Given the description of an element on the screen output the (x, y) to click on. 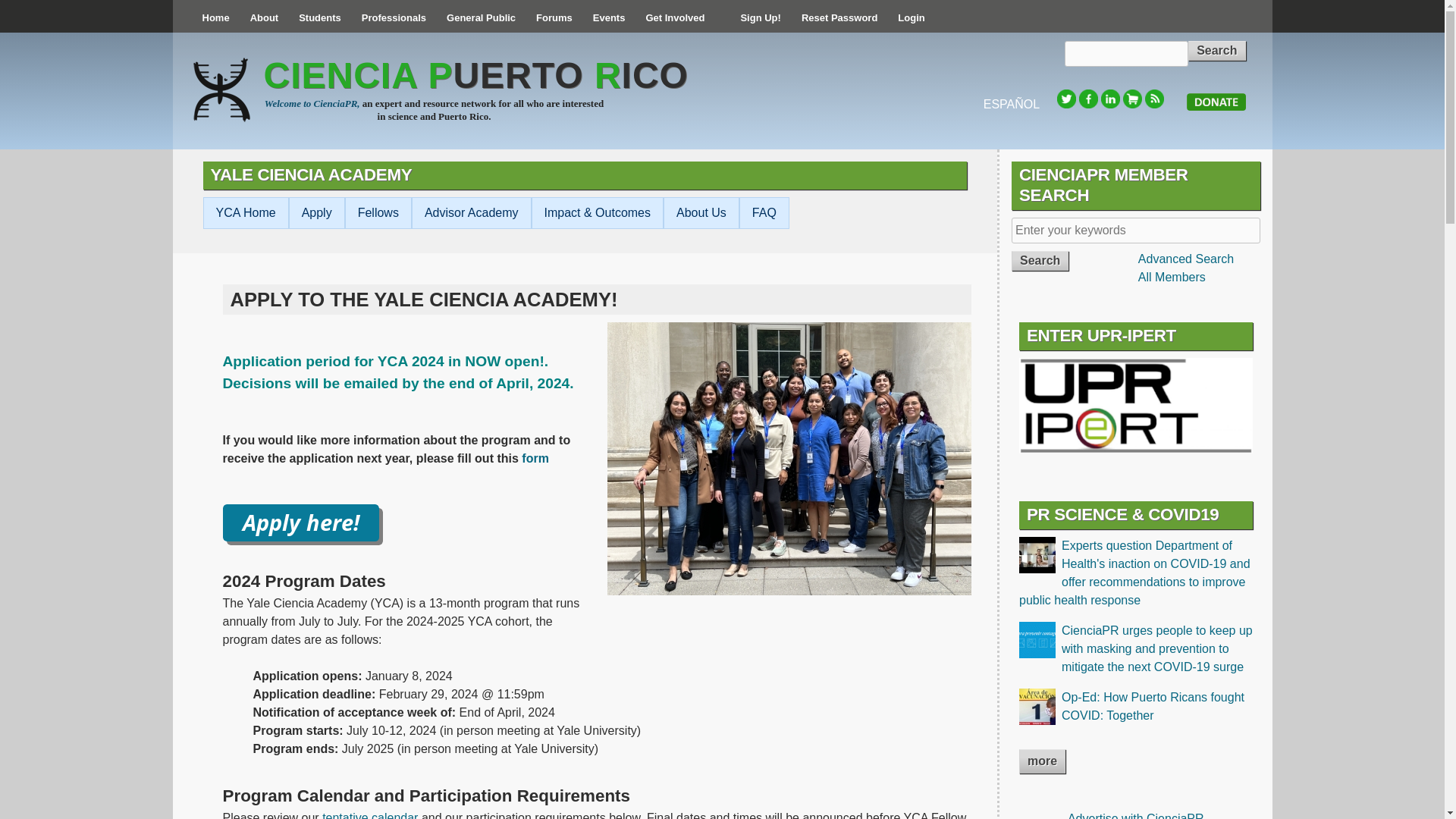
General Public (480, 18)
Get Involved (674, 18)
Reset Password (839, 18)
Professionals (393, 18)
Students (319, 18)
Events (608, 18)
Sign Up! (760, 18)
About (264, 18)
Search (1216, 50)
